Given the description of an element on the screen output the (x, y) to click on. 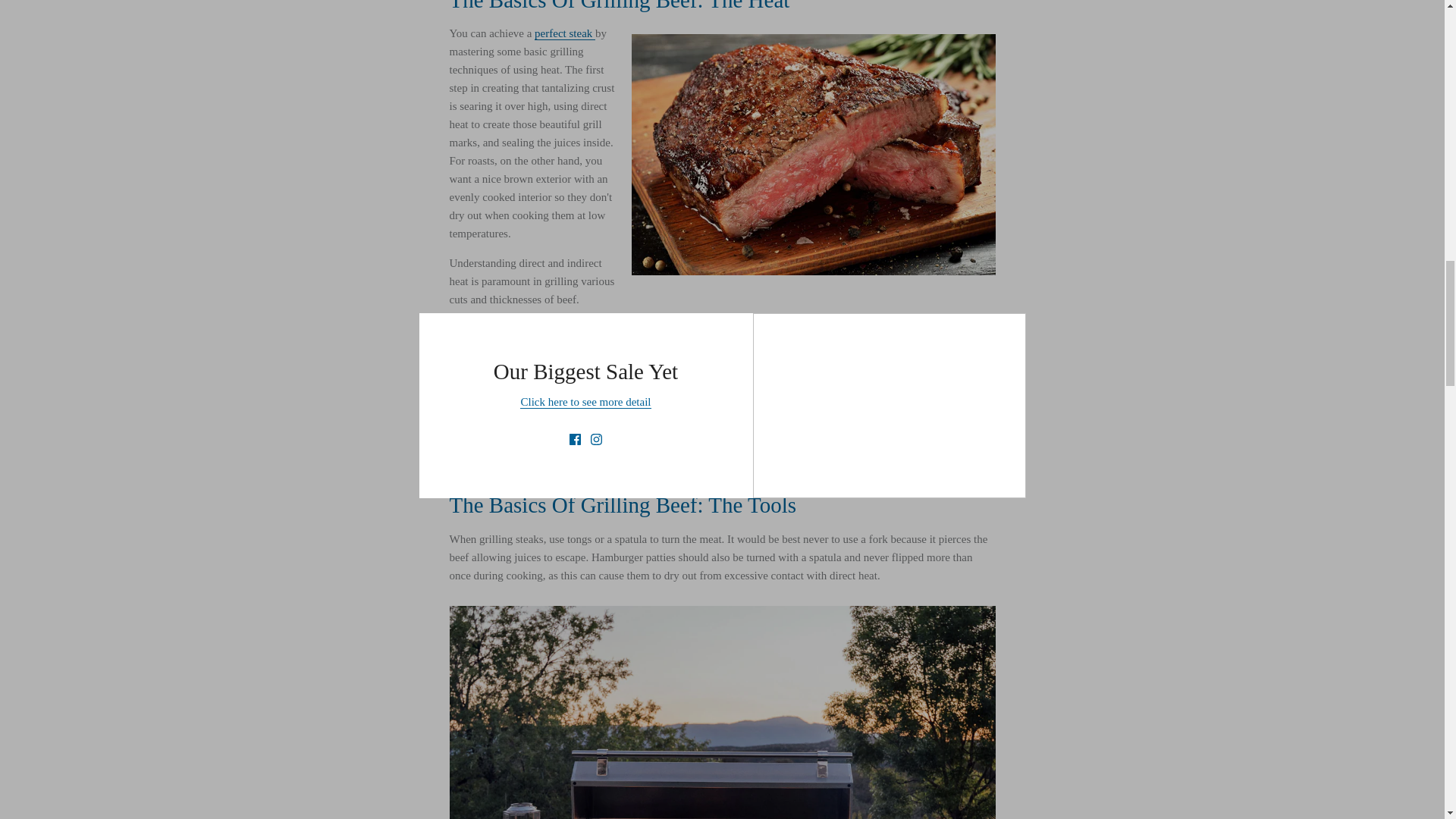
How to Grill the Perfect Steak (564, 33)
